Given the description of an element on the screen output the (x, y) to click on. 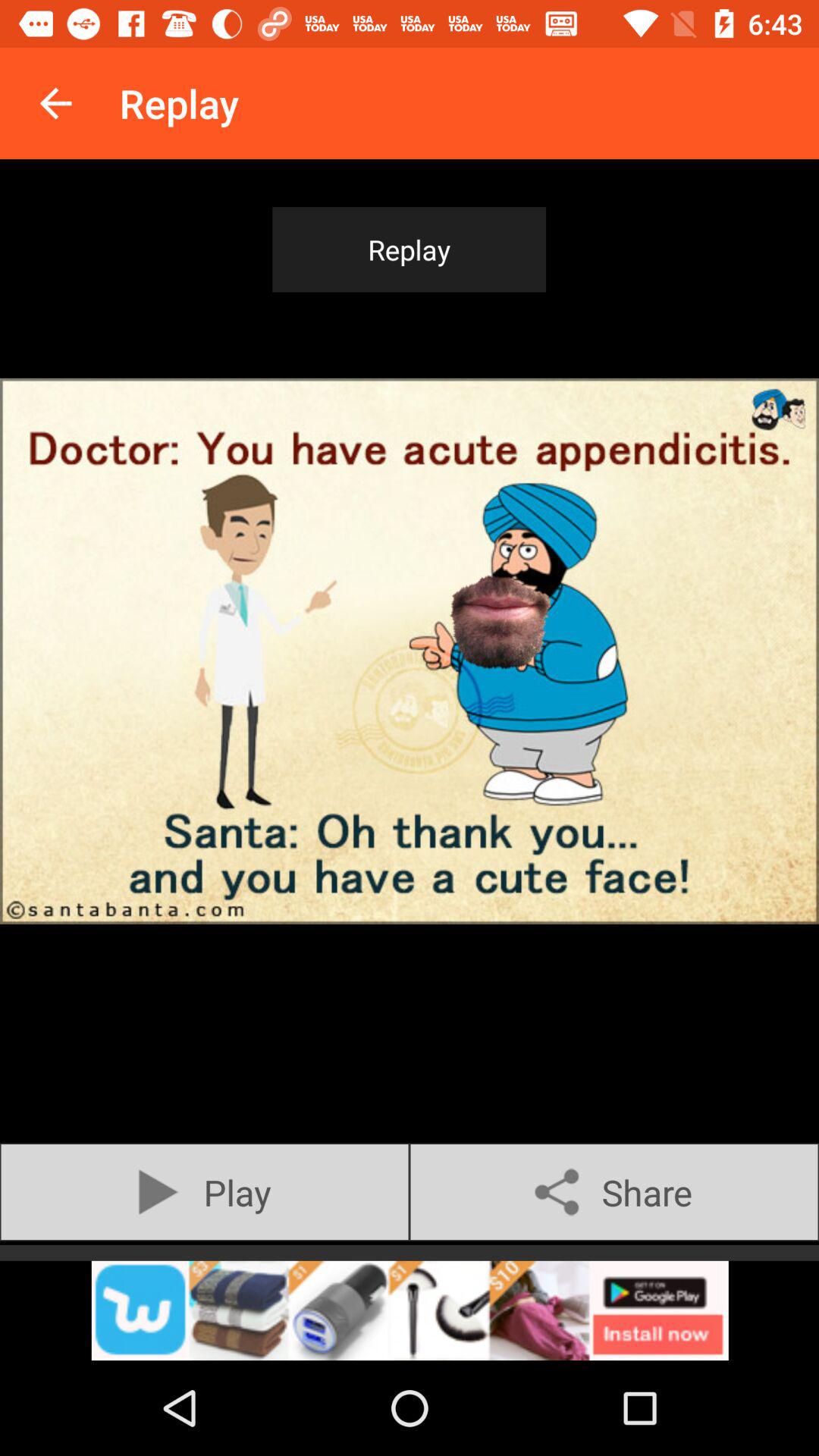
open advertisement (409, 1310)
